Given the description of an element on the screen output the (x, y) to click on. 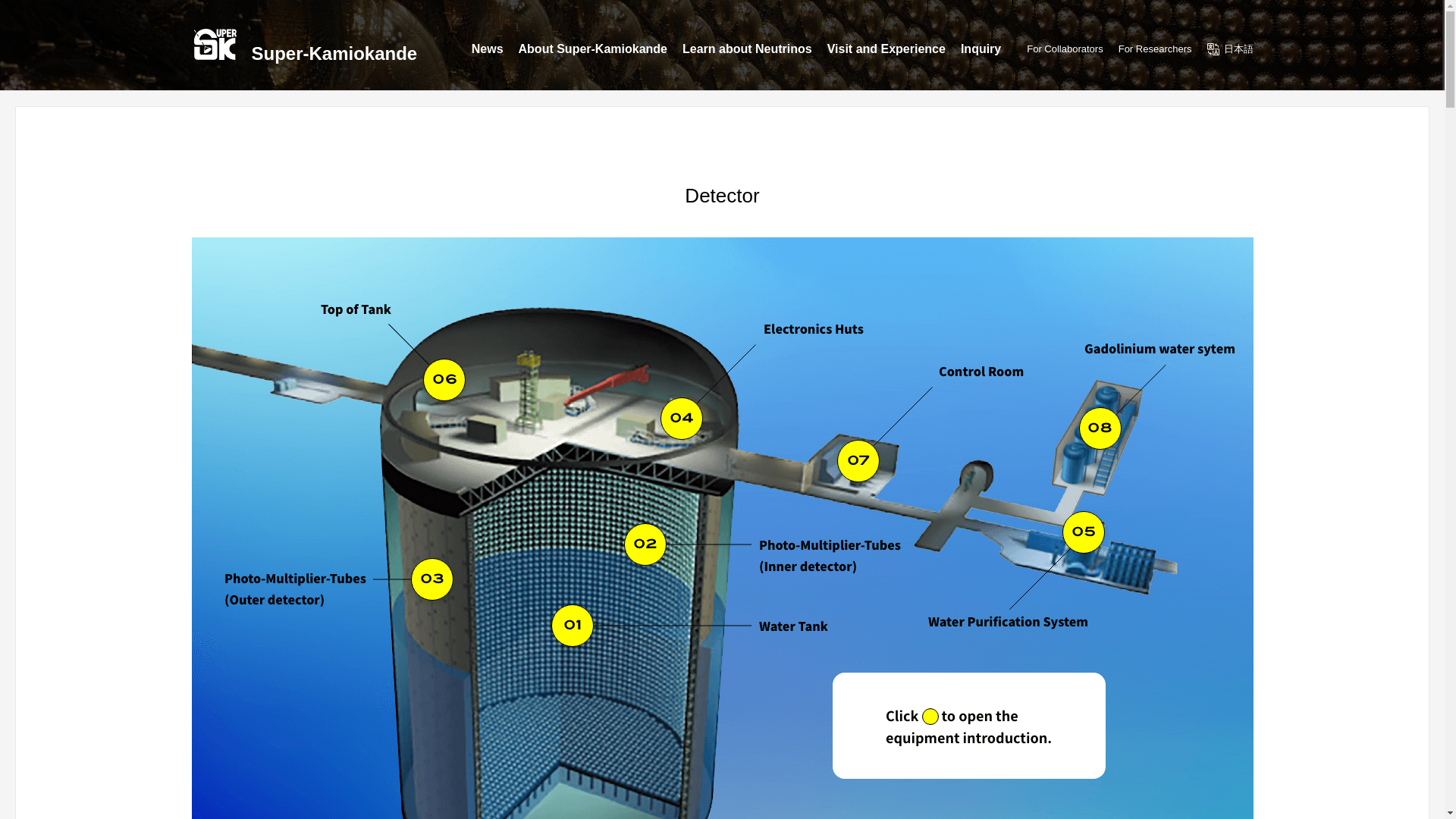
Super-Kamiokande (303, 42)
For Collaborators (1064, 48)
Inquiry (980, 51)
Visit and Experience (885, 51)
News (487, 51)
For Researchers (1155, 48)
About Super-Kamiokande (592, 51)
Learn about Neutrinos (747, 51)
